Given the description of an element on the screen output the (x, y) to click on. 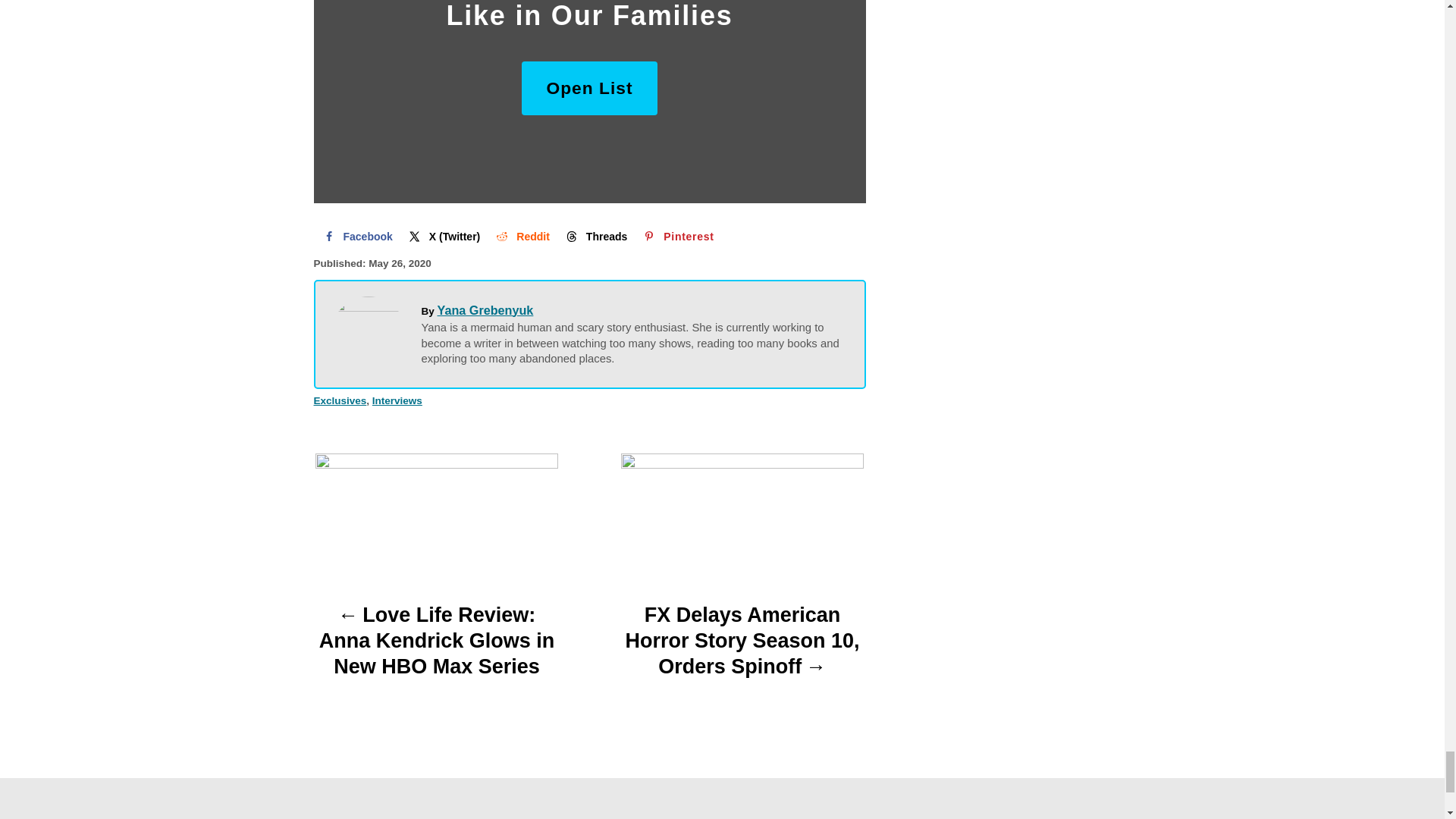
Follow on Facebook (286, 721)
Save to Pinterest (676, 236)
Share on Reddit (521, 236)
Share on Threads (594, 236)
Share on X (442, 236)
Share on Facebook (356, 236)
